Given the description of an element on the screen output the (x, y) to click on. 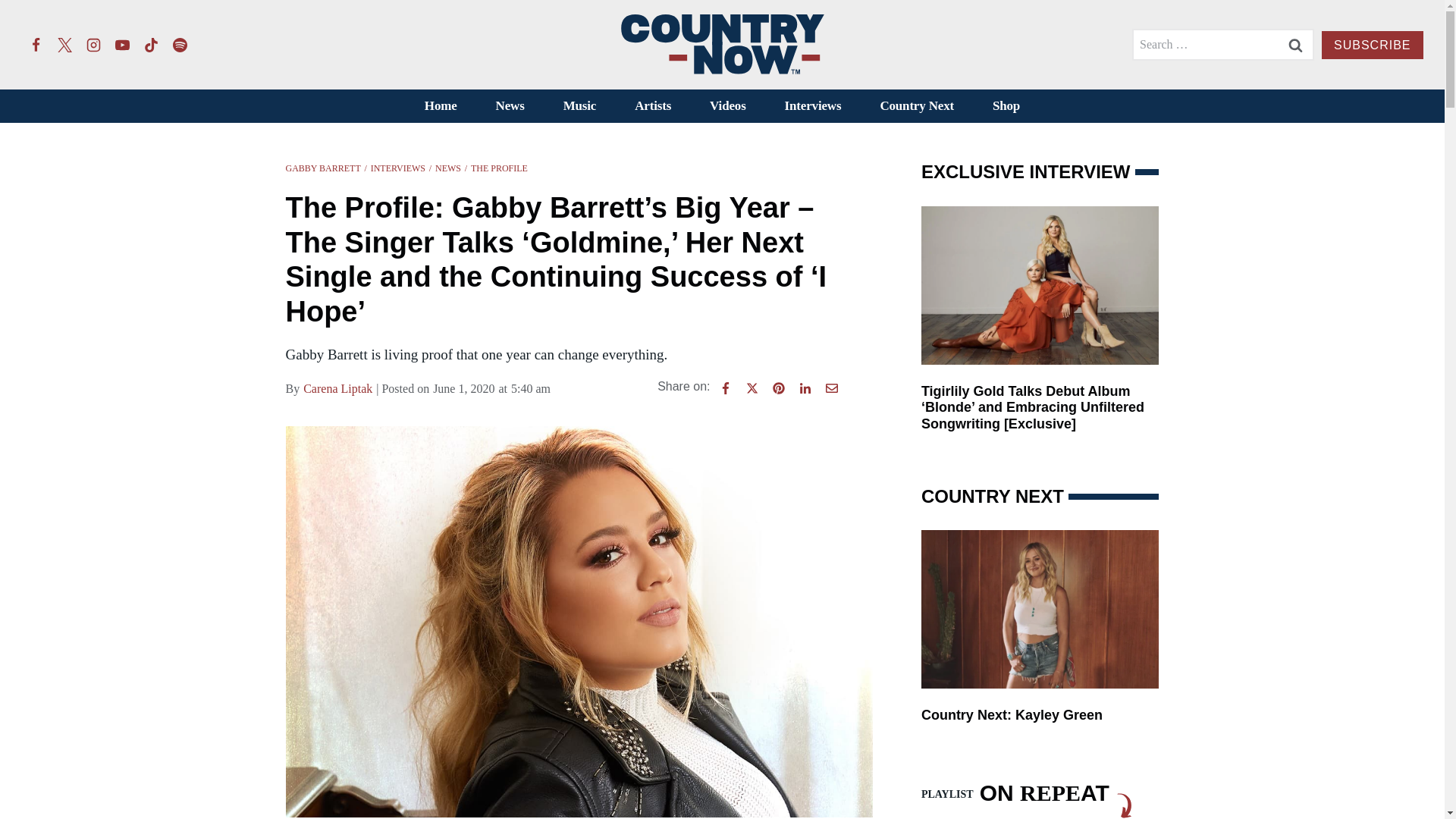
News (509, 105)
INTERVIEWS (398, 167)
Carena Liptak (337, 388)
Artists (652, 105)
Search (1295, 44)
GABBY BARRETT (322, 167)
NEWS (448, 167)
THE PROFILE (498, 167)
Country Next (917, 105)
Music (579, 105)
